Given the description of an element on the screen output the (x, y) to click on. 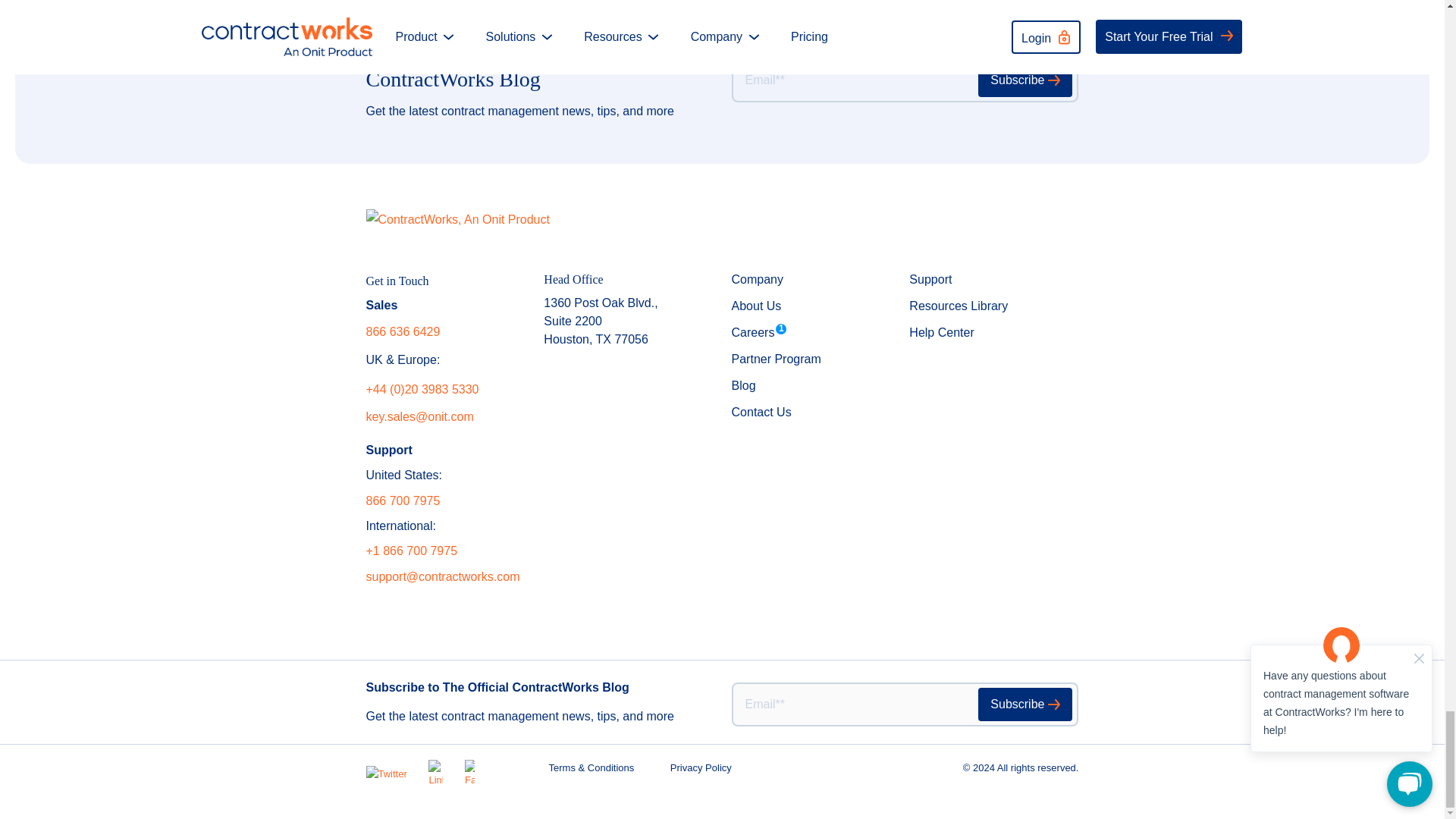
Subscribe (1024, 704)
Subscribe (1024, 80)
